Given the description of an element on the screen output the (x, y) to click on. 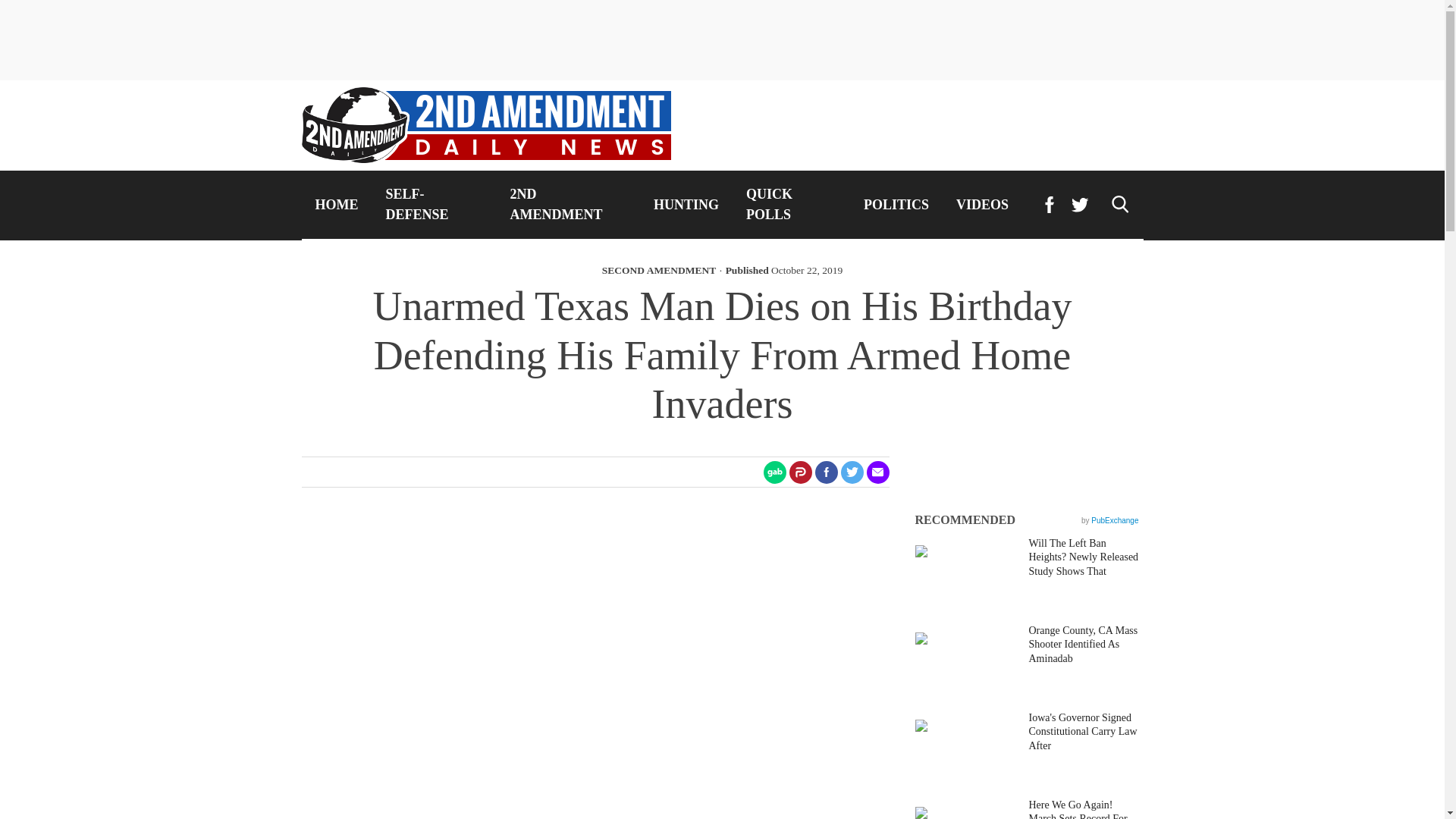
Here We Go Again! March Sets Record For NICS Checks - (1084, 808)
HUNTING (686, 204)
HOME (336, 204)
Share on Parler (799, 472)
SECOND AMENDMENT (659, 270)
Share on Gab (774, 472)
Share on Facebook (825, 472)
Share on Twitter (851, 472)
SELF-DEFENSE (433, 204)
Share via Email (877, 472)
VIDEOS (982, 204)
2ND AMENDMENT (568, 204)
POLITICS (896, 204)
Orange County, CA Mass Shooter Identified As Aminadab (1084, 653)
Will The Left Ban Heights? Newly Released Study Shows That (1084, 567)
